Given the description of an element on the screen output the (x, y) to click on. 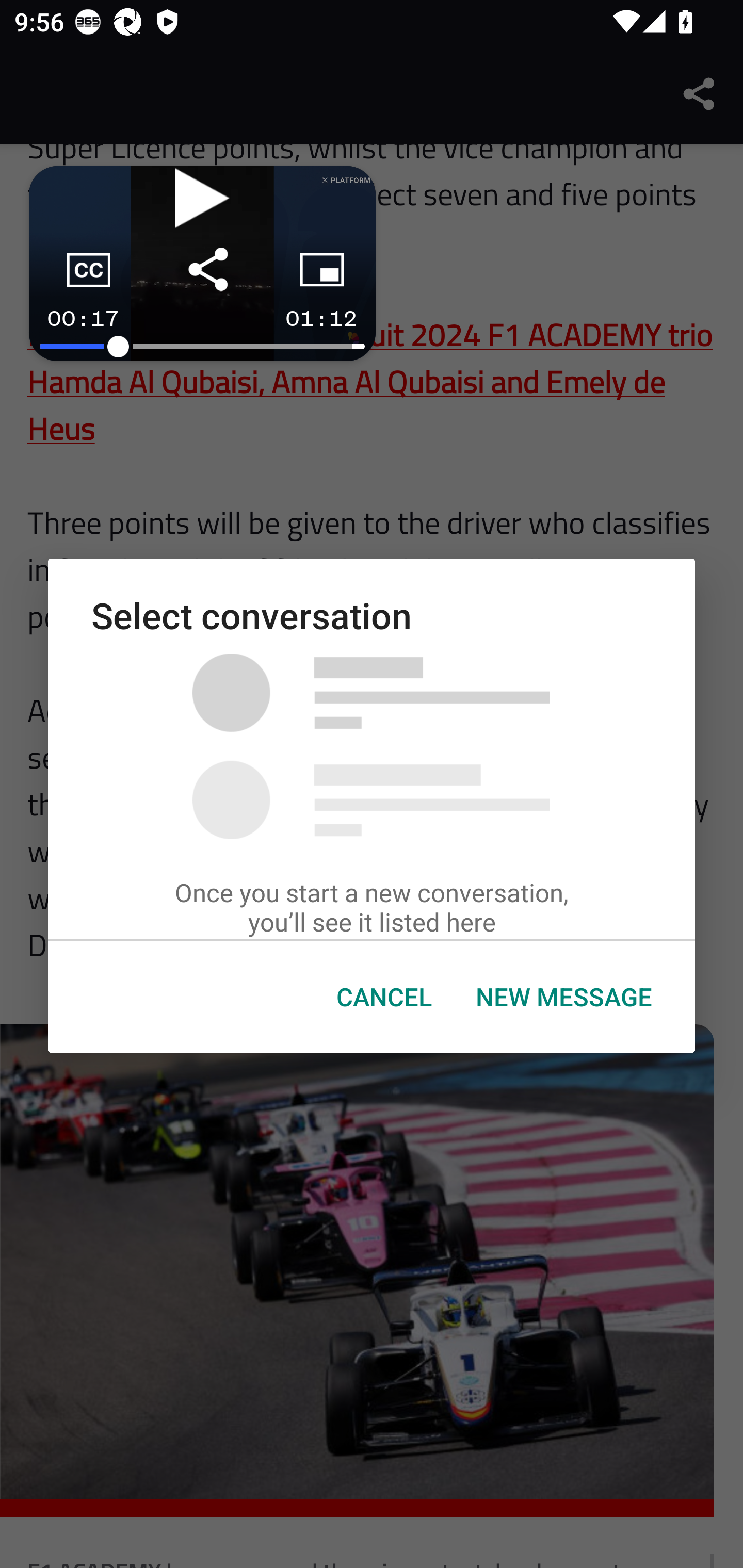
CANCEL (384, 996)
NEW MESSAGE (563, 996)
